Given the description of an element on the screen output the (x, y) to click on. 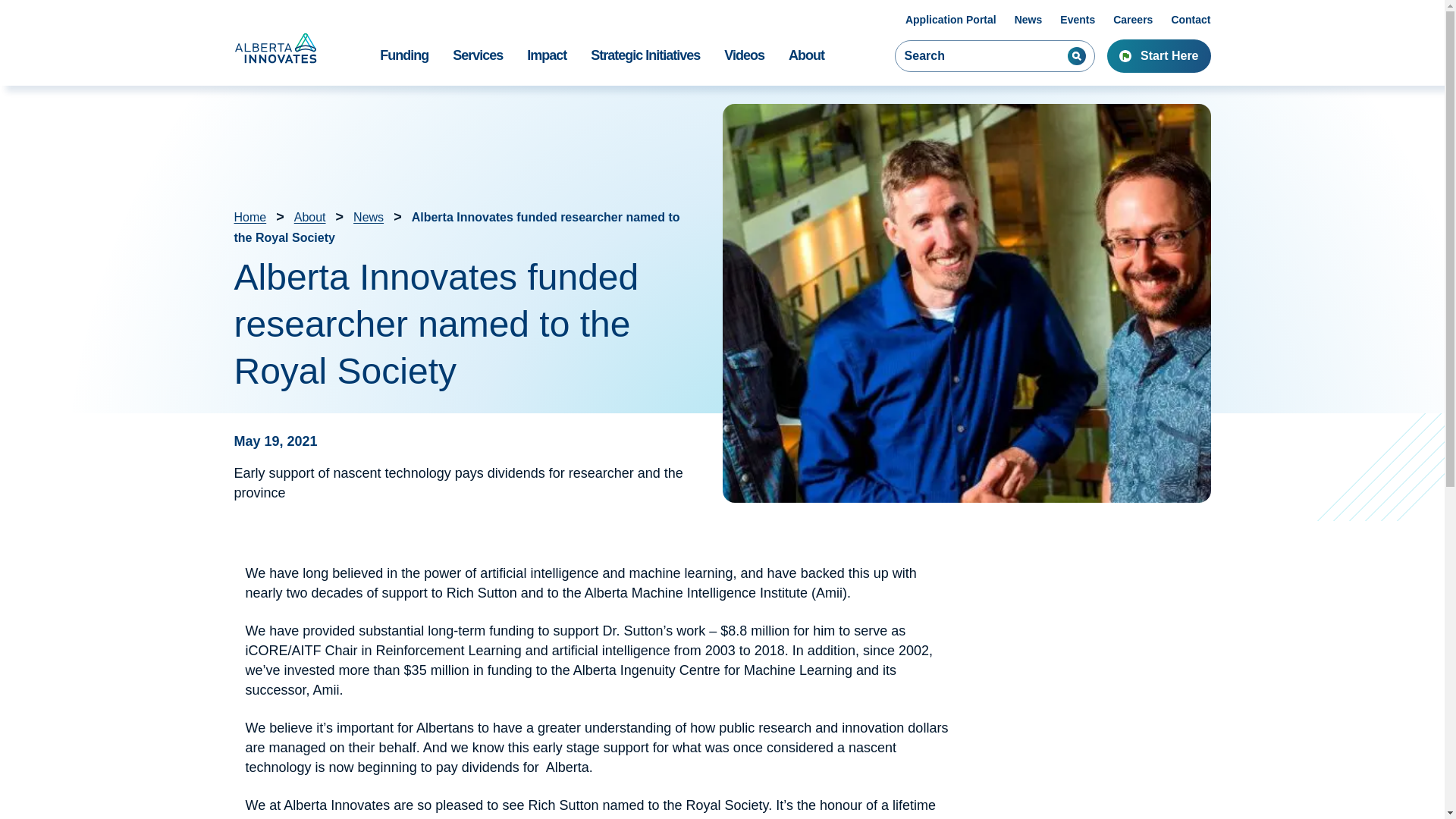
Careers (1133, 19)
Impact (546, 61)
News (1028, 19)
Home Page (275, 47)
Application Portal (950, 19)
Contact (1189, 19)
Home Page (275, 47)
Events (1076, 19)
Funding (404, 61)
Strategic Initiatives (644, 61)
Services (478, 61)
